Given the description of an element on the screen output the (x, y) to click on. 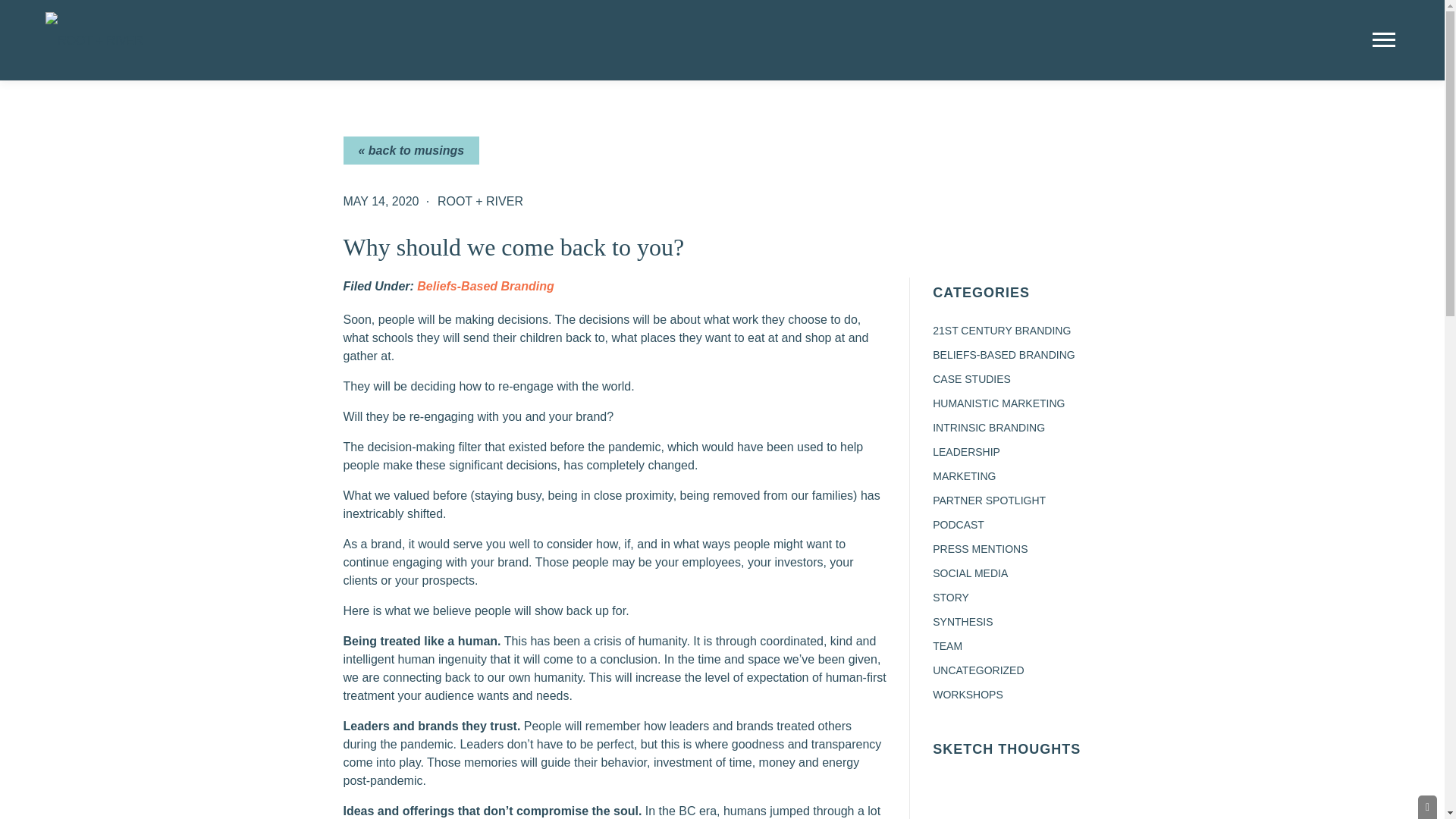
TEAM (947, 645)
HUMANISTIC MARKETING (998, 403)
Menu (1386, 40)
INTRINSIC BRANDING (989, 427)
MARKETING (964, 476)
BELIEFS-BASED BRANDING (1004, 354)
PODCAST (958, 524)
CASE STUDIES (971, 378)
LEADERSHIP (966, 451)
STORY (951, 597)
